Given the description of an element on the screen output the (x, y) to click on. 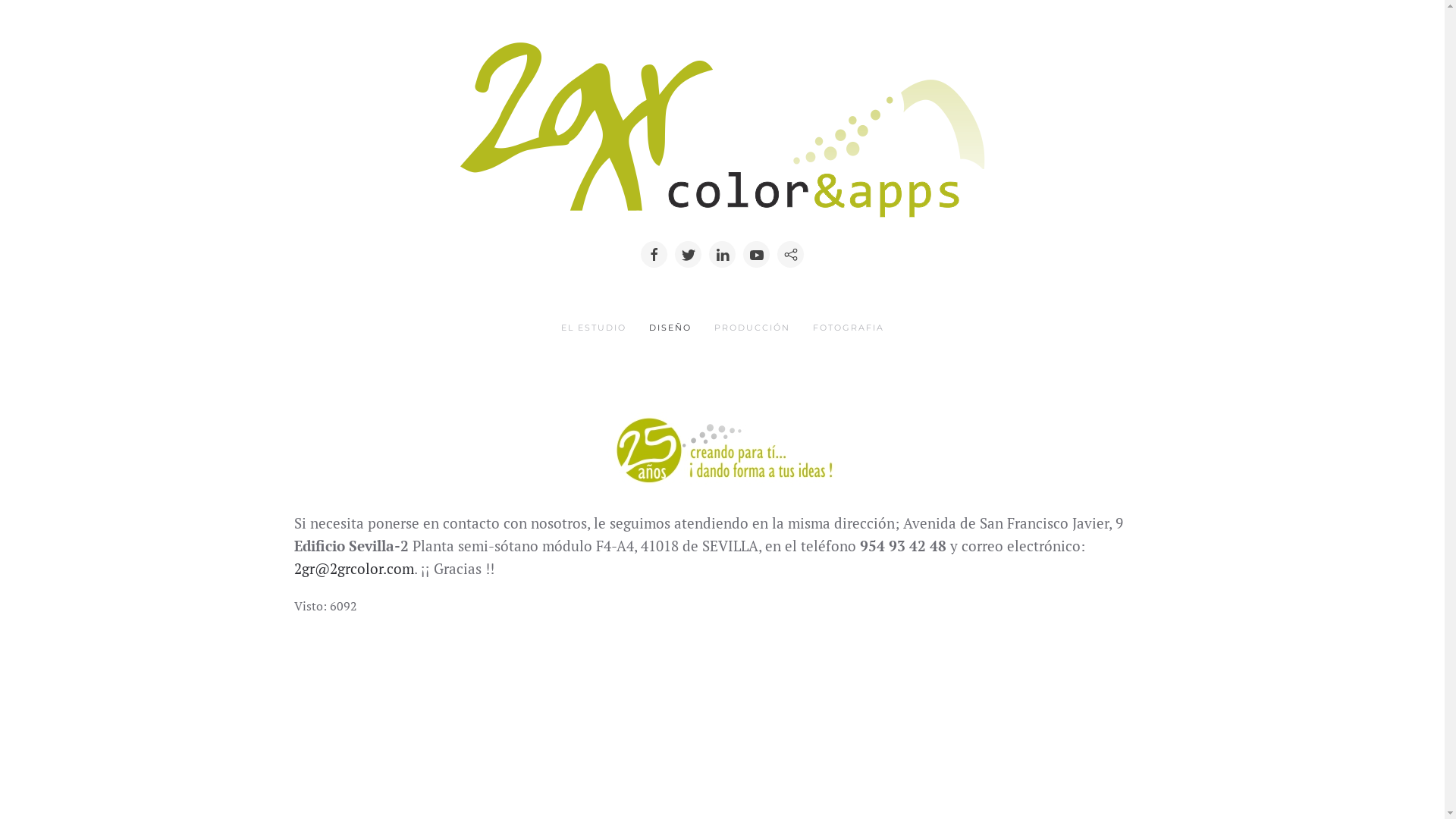
EL ESTUDIO Element type: text (593, 327)
2gr@2grcolor.com Element type: text (354, 568)
FOTOGRAFIA Element type: text (847, 327)
